Given the description of an element on the screen output the (x, y) to click on. 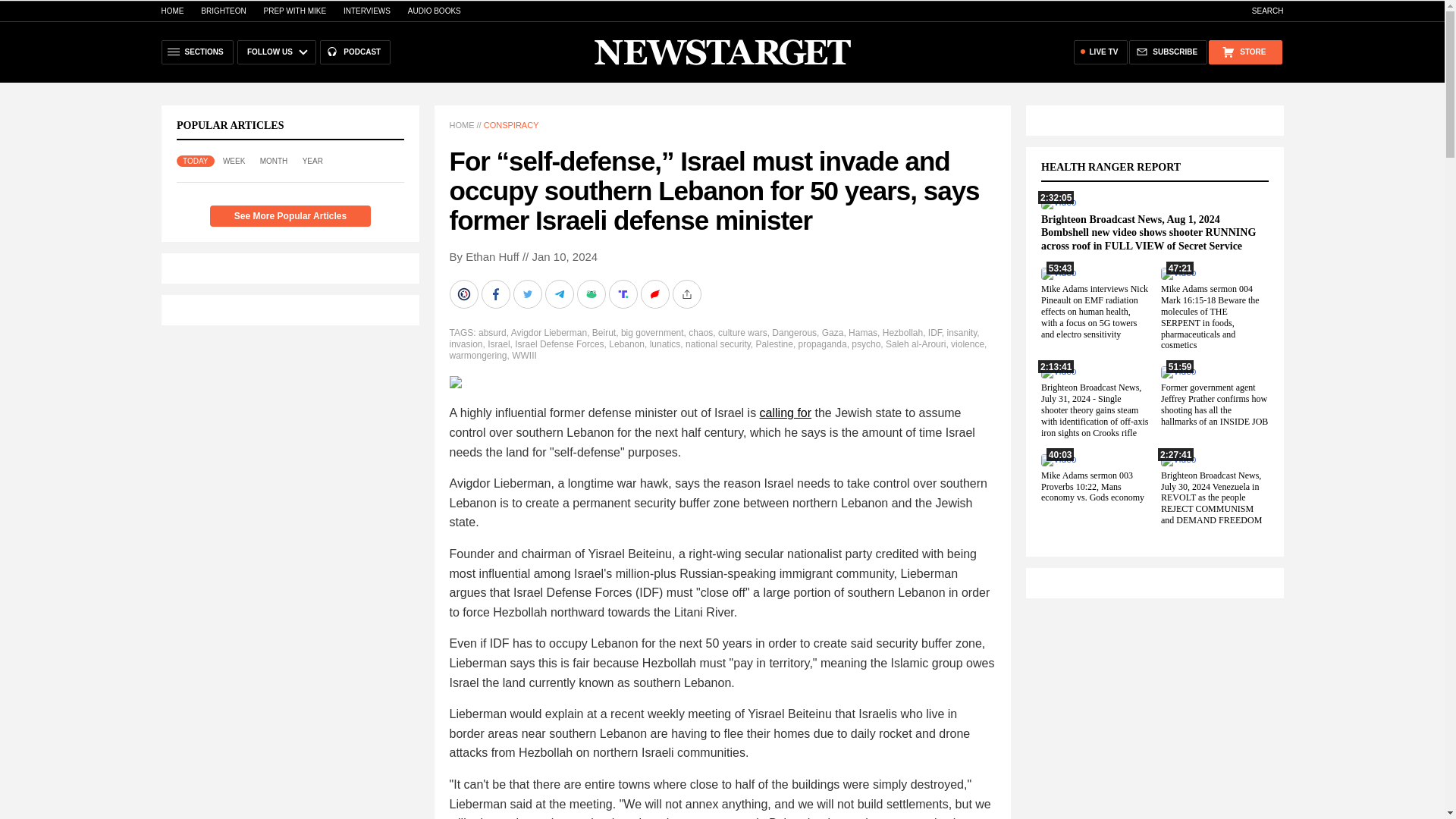
2:13:41 (1058, 371)
53:43 (1058, 272)
2:32:05 (1058, 202)
AUDIO BOOKS (434, 10)
Share on Gettr (655, 294)
PREP WITH MIKE (294, 10)
HOME (171, 10)
2:27:41 (1177, 459)
More Share Options (687, 294)
SUBSCRIBE (1168, 52)
47:21 (1177, 272)
See More Popular Articles (289, 215)
absurd (492, 332)
